Given the description of an element on the screen output the (x, y) to click on. 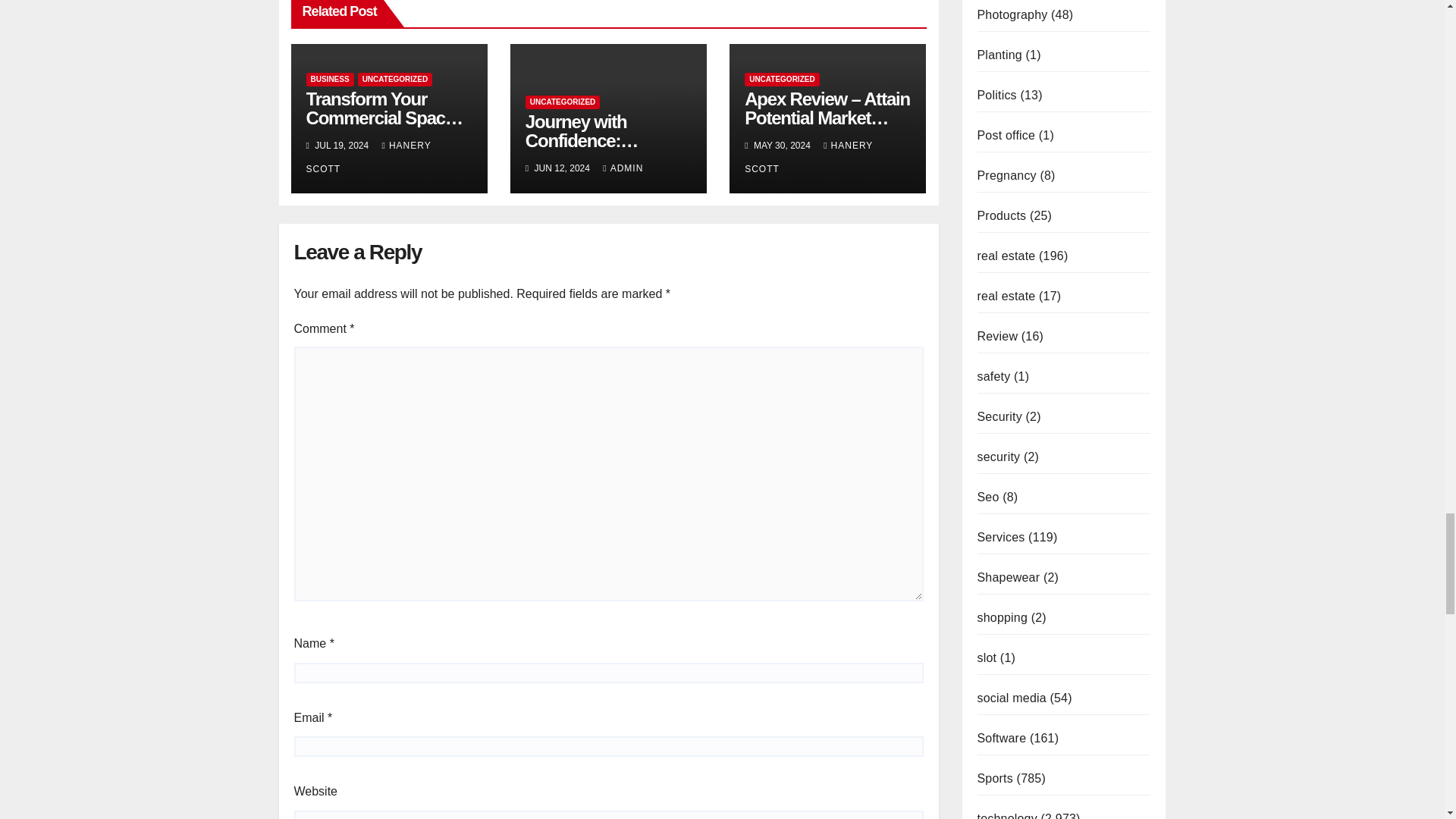
UNCATEGORIZED (395, 79)
BUSINESS (329, 79)
HANERY SCOTT (367, 157)
UNCATEGORIZED (562, 101)
ADMIN (622, 167)
